Given the description of an element on the screen output the (x, y) to click on. 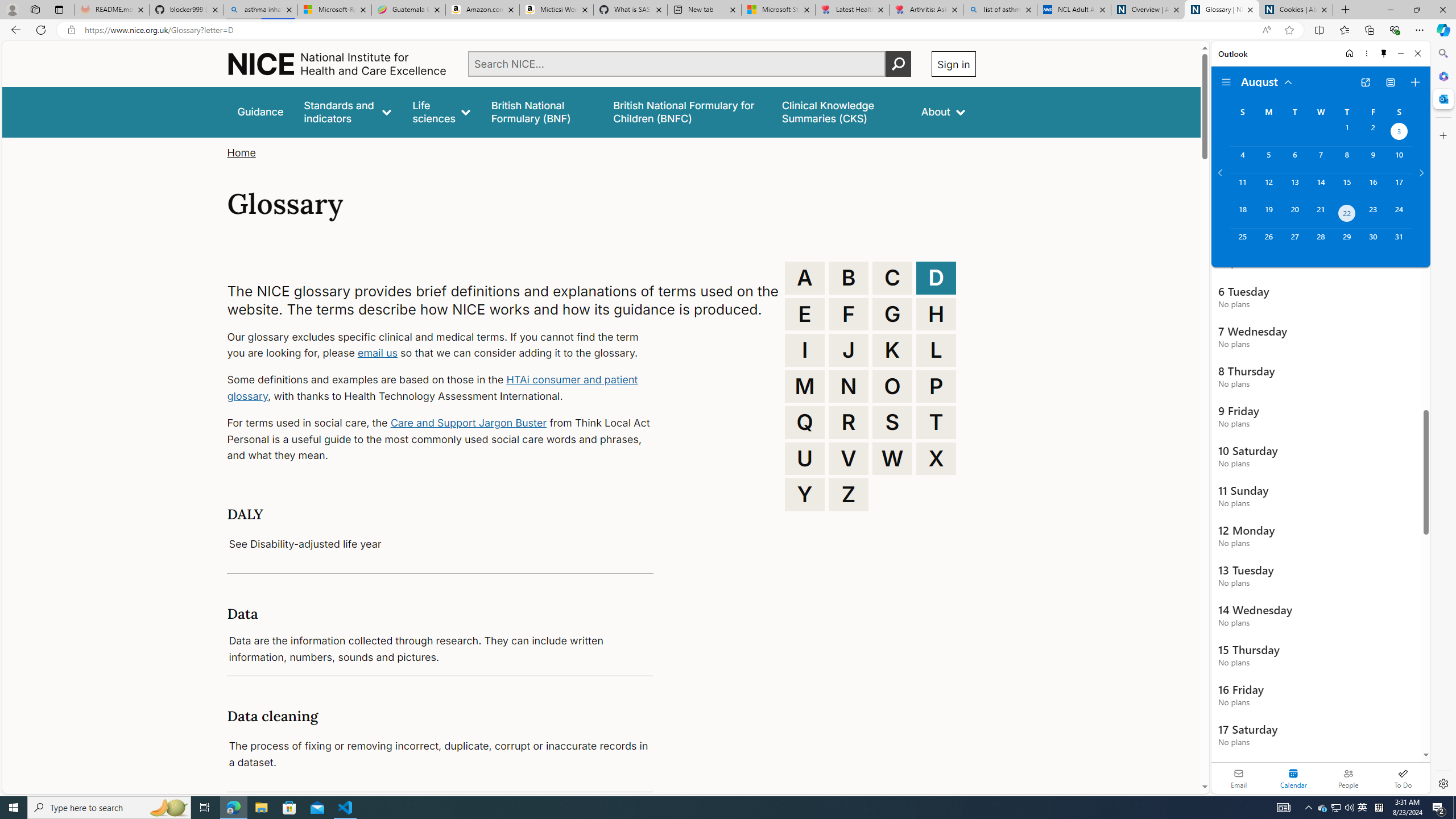
E (804, 313)
People (1347, 777)
Tuesday, August 13, 2024.  (1294, 186)
More options (1366, 53)
Wednesday, August 21, 2024.  (1320, 214)
New tab (703, 9)
Saturday, August 17, 2024.  (1399, 186)
Glossary | NICE (1221, 9)
K (892, 350)
Open in new tab (1365, 82)
L (935, 350)
Home (1348, 53)
Cookies | About | NICE (1295, 9)
